Given the description of an element on the screen output the (x, y) to click on. 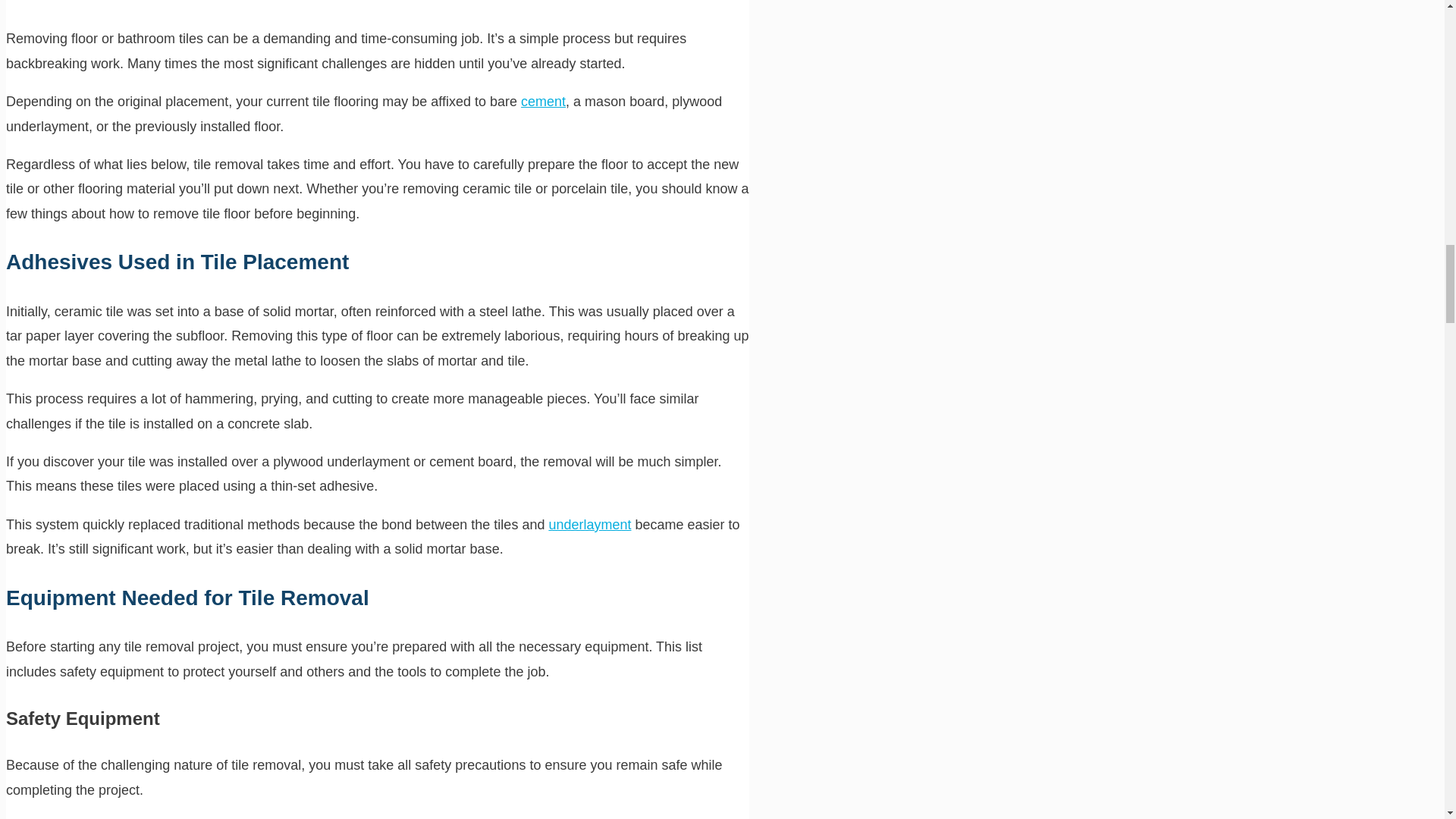
cement (543, 101)
underlayment (589, 524)
